Given the description of an element on the screen output the (x, y) to click on. 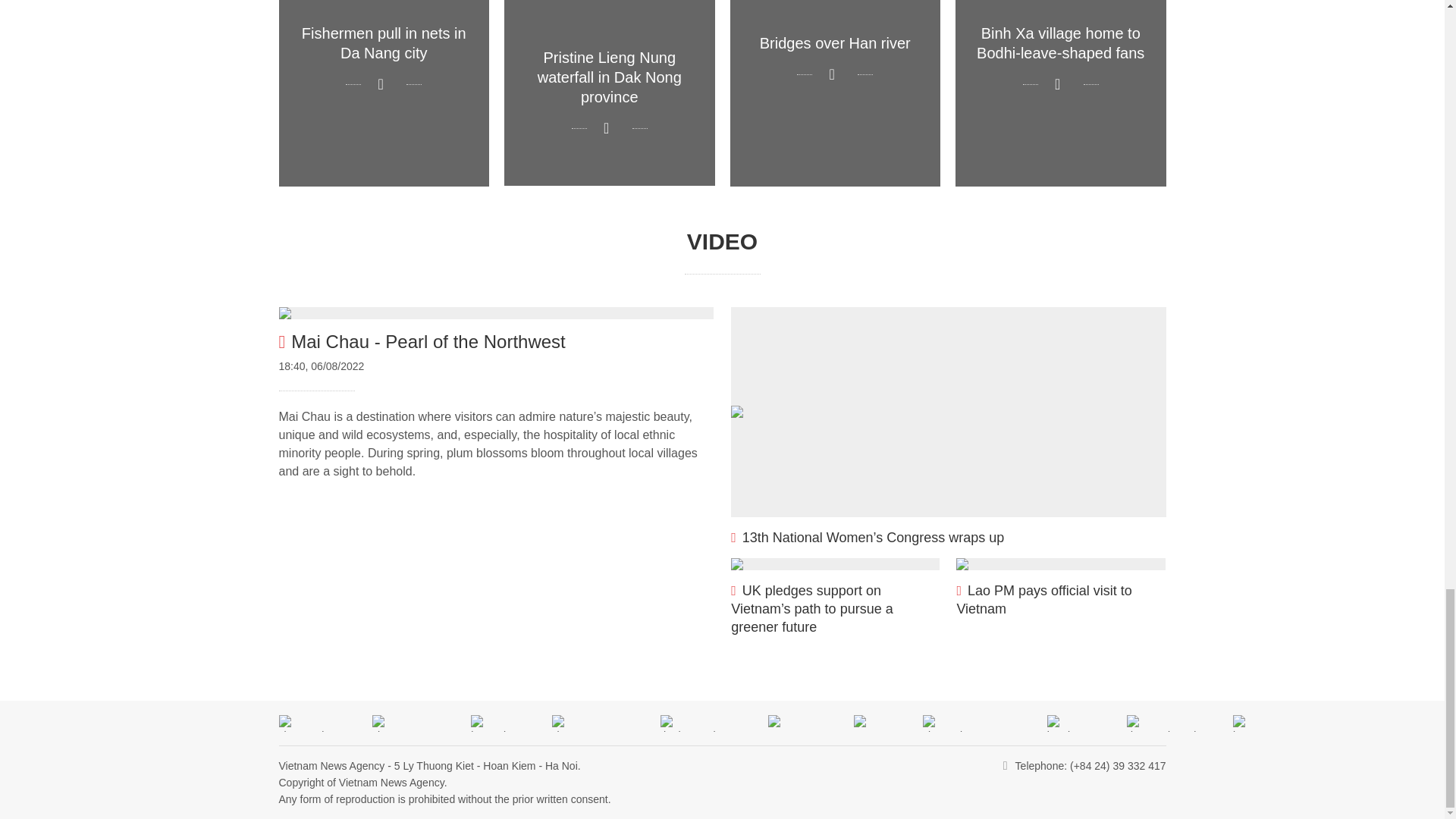
Fishermen pull in nets in Da Nang city (384, 93)
Mai Chau - Pearl of the Northwest (496, 313)
Bridges over Han river (834, 93)
Pristine Lieng Nung waterfall in Dak Nong province (608, 92)
Fishermen pull in nets in Da Nang city (384, 93)
Binh Xa village home to Bodhi-leave-shaped fans (1060, 93)
Pristine Lieng Nung waterfall in Dak Nong province (608, 92)
Video (722, 241)
Bridges over Han river (834, 93)
